Given the description of an element on the screen output the (x, y) to click on. 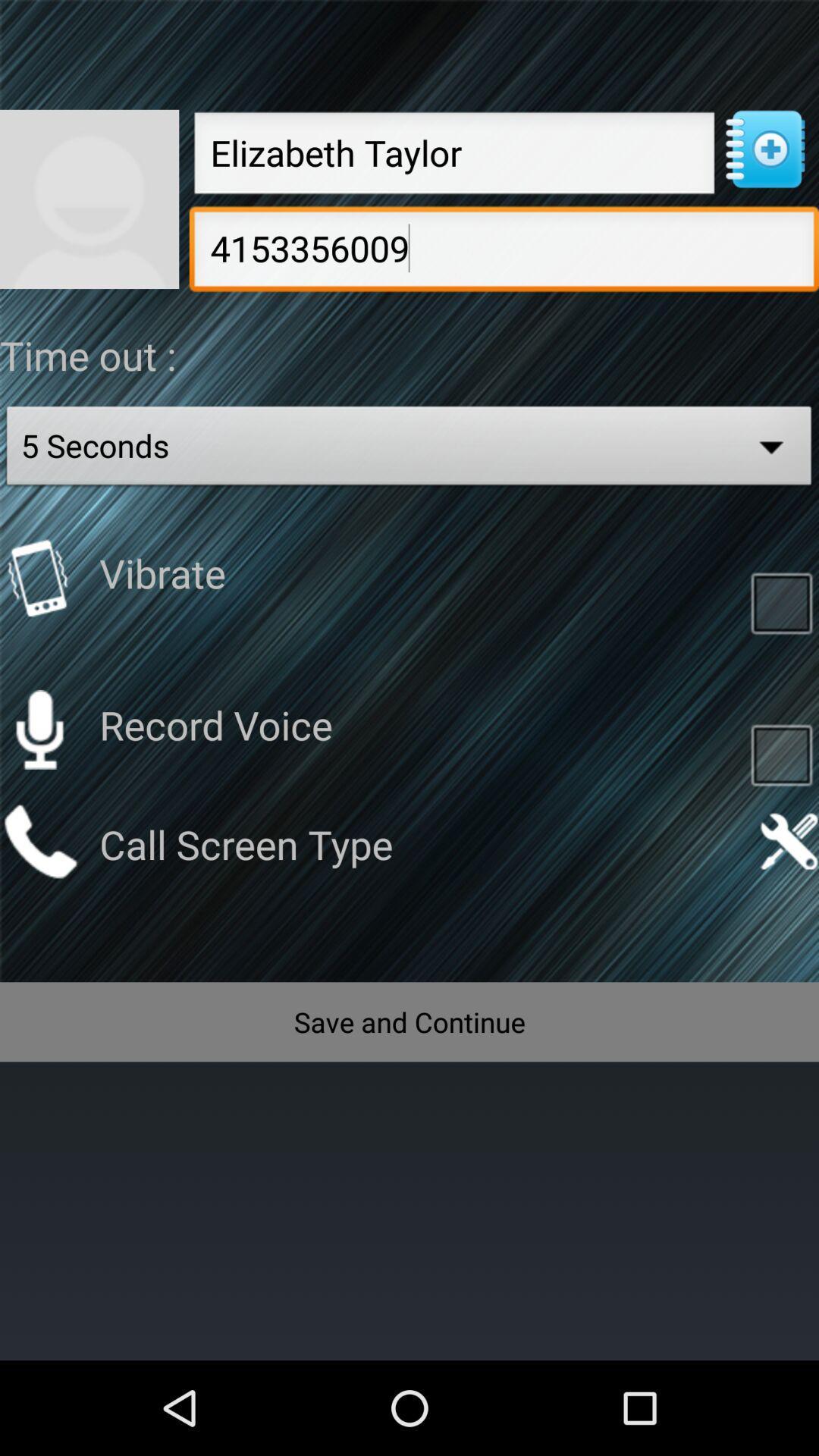
open call screen settings (789, 841)
